Given the description of an element on the screen output the (x, y) to click on. 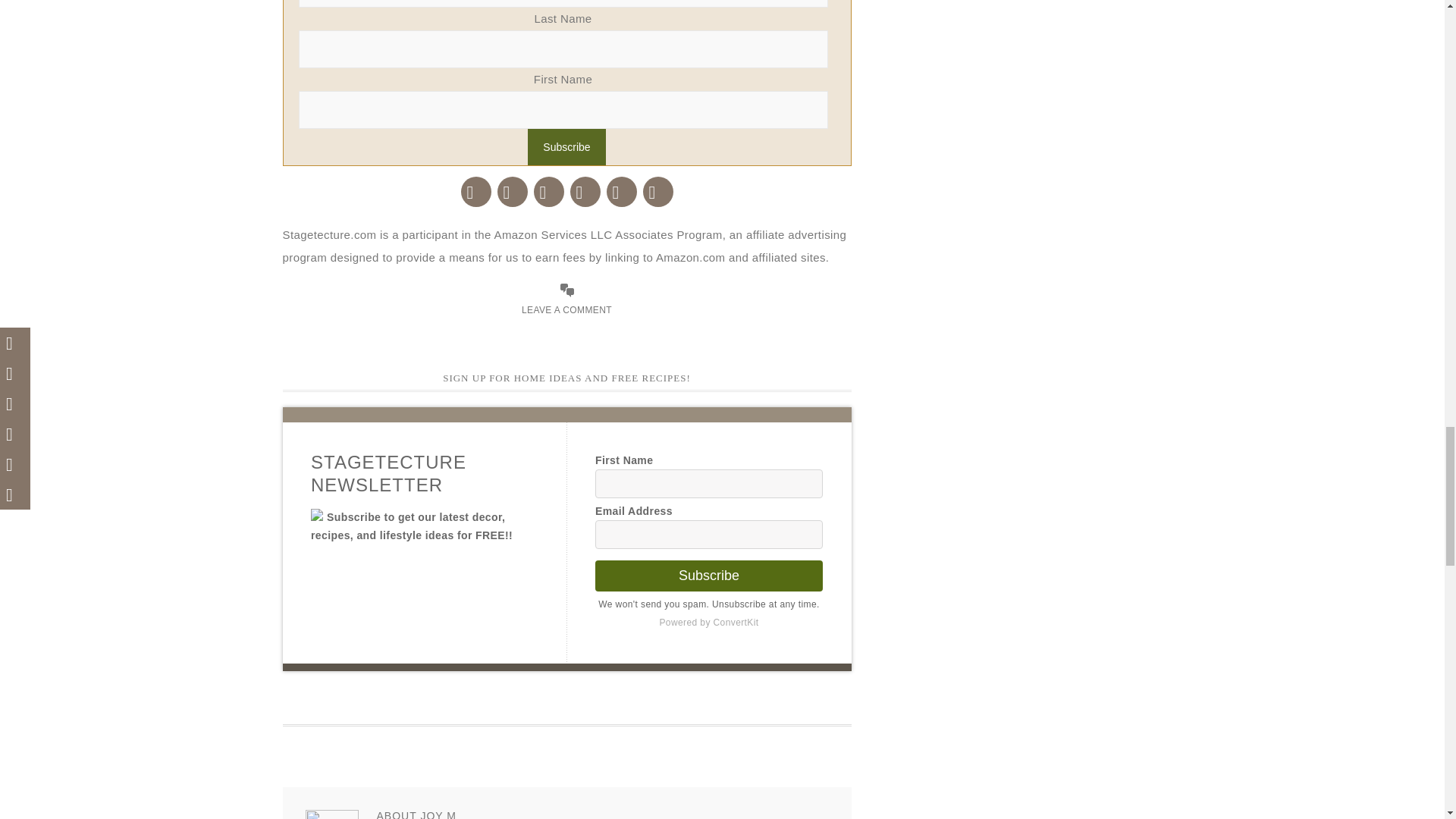
Subscribe (566, 146)
Pinterest (549, 191)
Facebook (476, 191)
LinkedIn (622, 191)
Tumblr (585, 191)
